Given the description of an element on the screen output the (x, y) to click on. 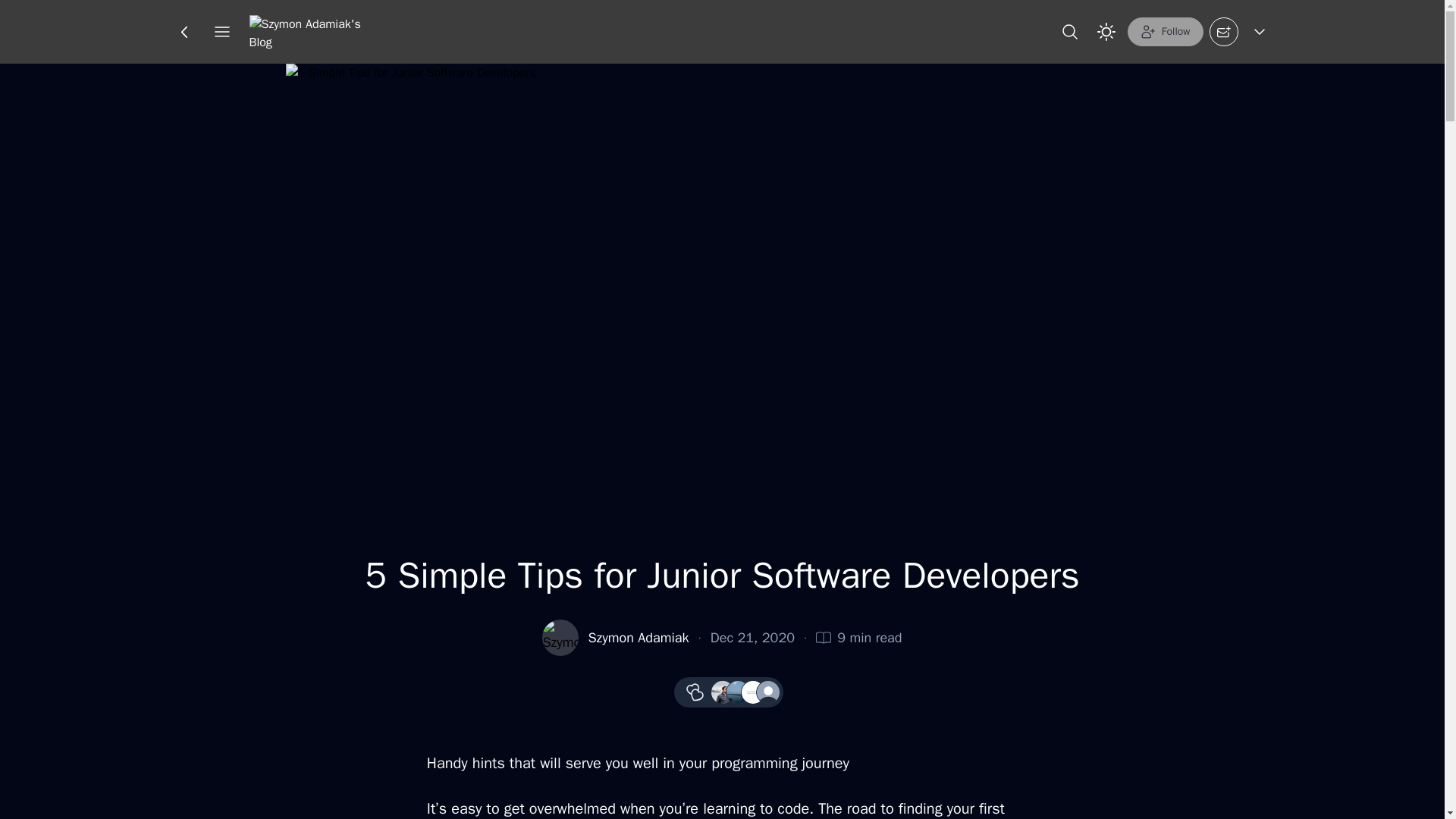
Dec 21, 2020 (752, 637)
Szymon Adamiak (638, 637)
Follow (1165, 31)
